Given the description of an element on the screen output the (x, y) to click on. 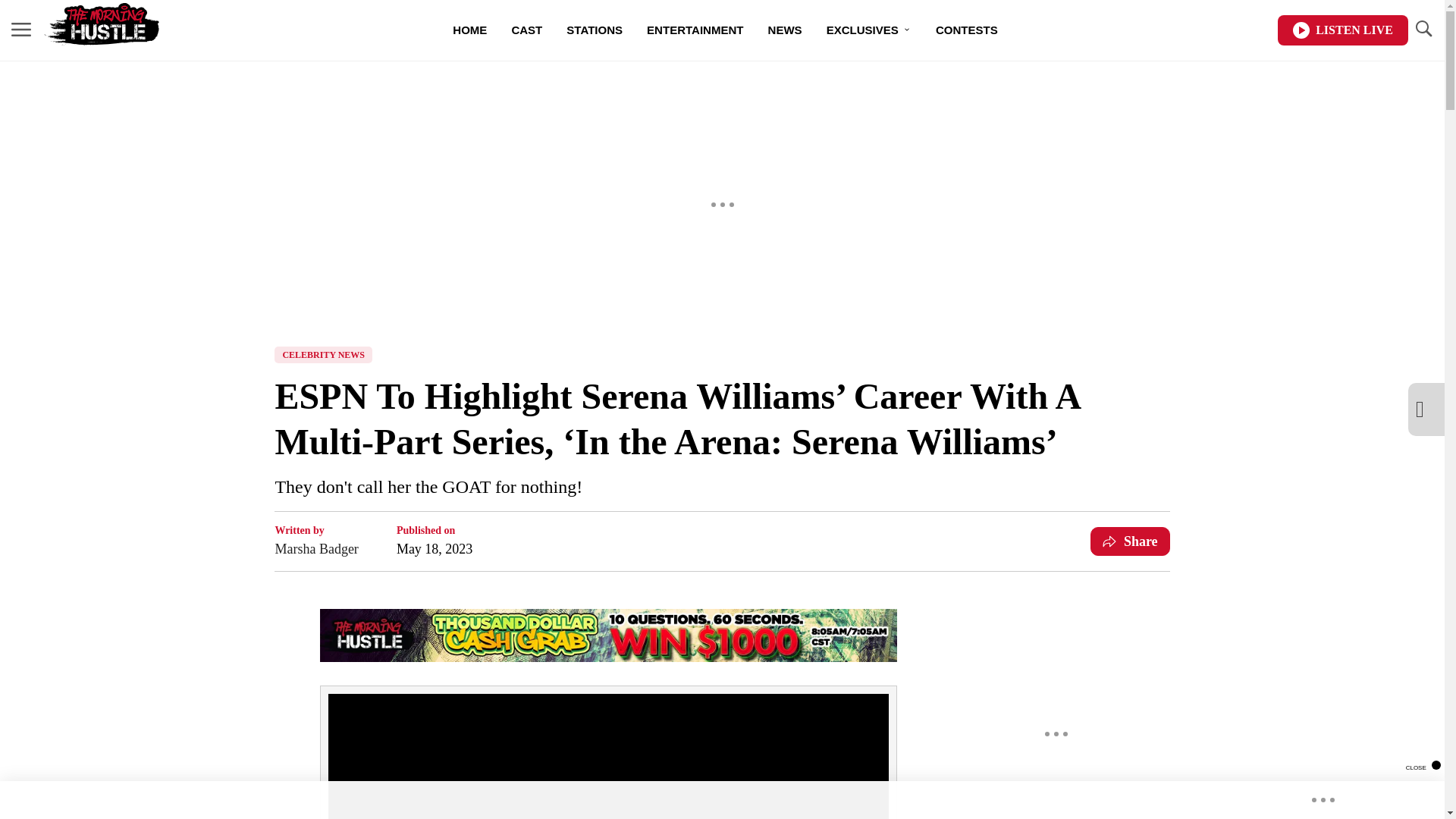
TOGGLE SEARCH (1422, 28)
TOGGLE SEARCH (1422, 30)
MENU (20, 29)
Share (1130, 541)
Marsha Badger (316, 548)
EXCLUSIVES (868, 30)
STATIONS (594, 30)
ENTERTAINMENT (694, 30)
MENU (20, 30)
